Given the description of an element on the screen output the (x, y) to click on. 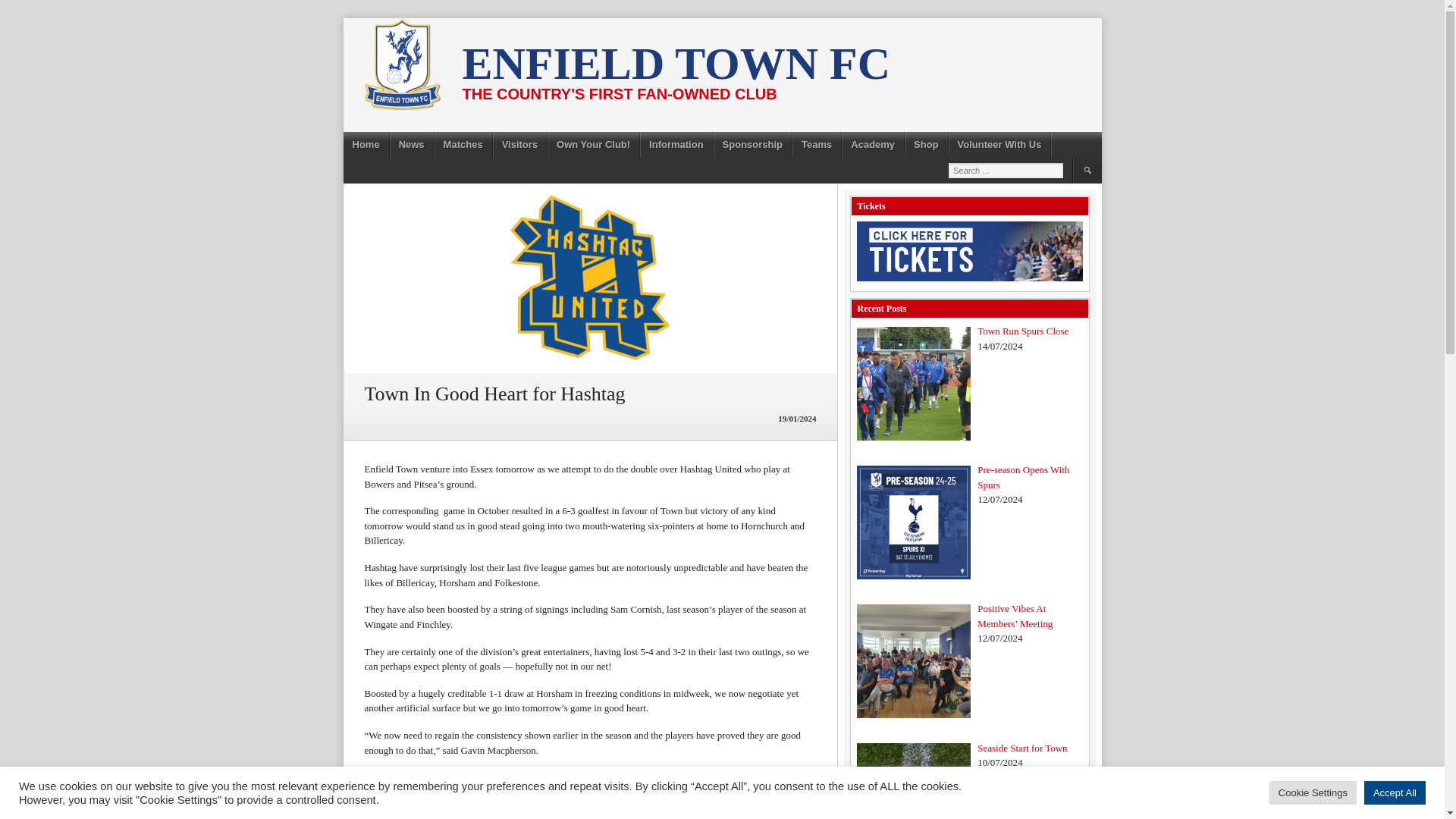
Sponsorship (752, 144)
Teams (816, 144)
Own Your Club! (593, 144)
Matches (463, 144)
ENFIELD TOWN FC (677, 63)
Home (365, 144)
Visitors (520, 144)
News (411, 144)
Search (1085, 170)
Tickets (970, 251)
Information (676, 144)
